Given the description of an element on the screen output the (x, y) to click on. 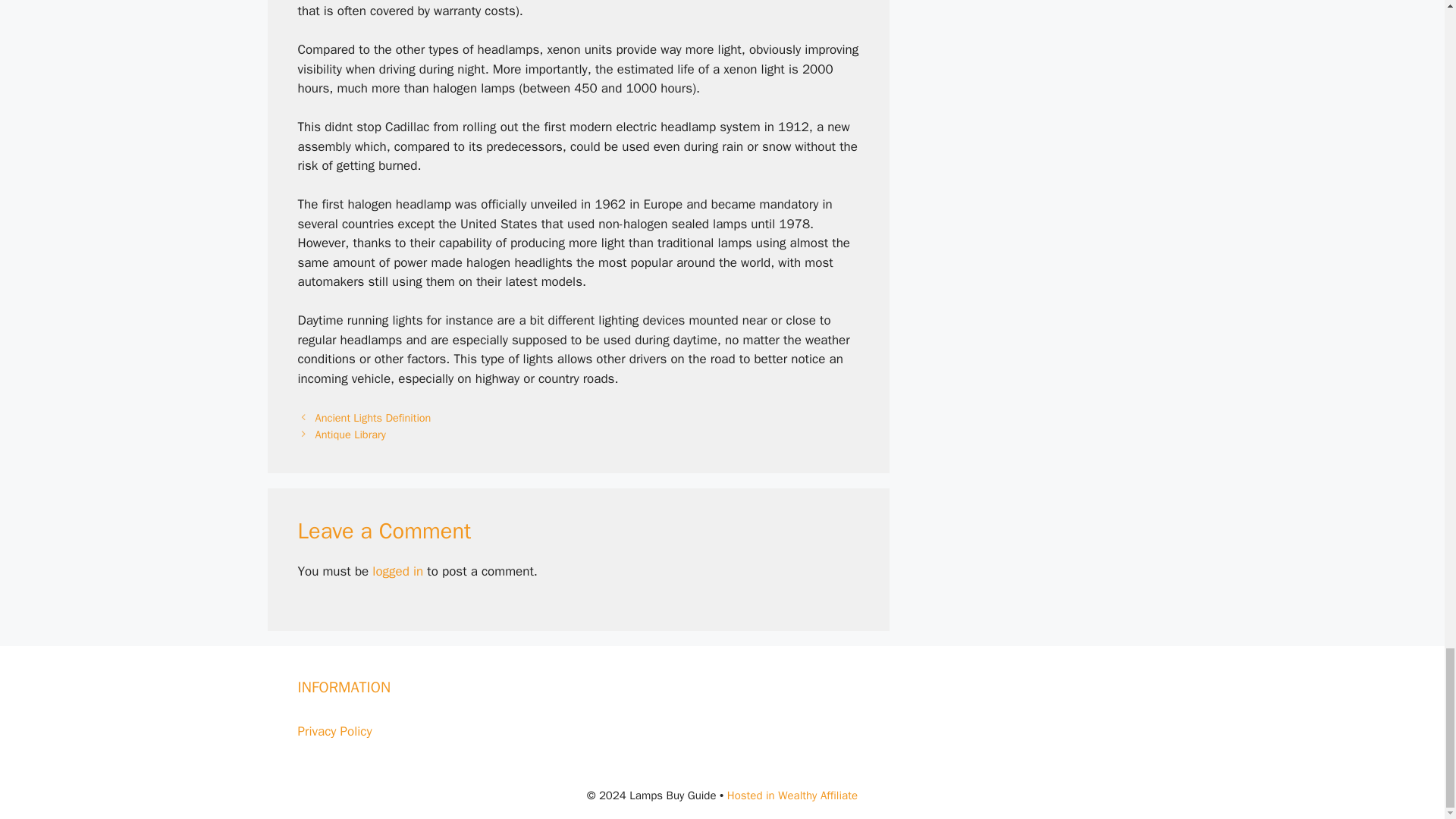
Ancient Lights Definition (372, 418)
Hosted in Wealthy Affiliate (791, 795)
logged in (397, 571)
Privacy Policy (334, 731)
Antique Library (350, 434)
